Given the description of an element on the screen output the (x, y) to click on. 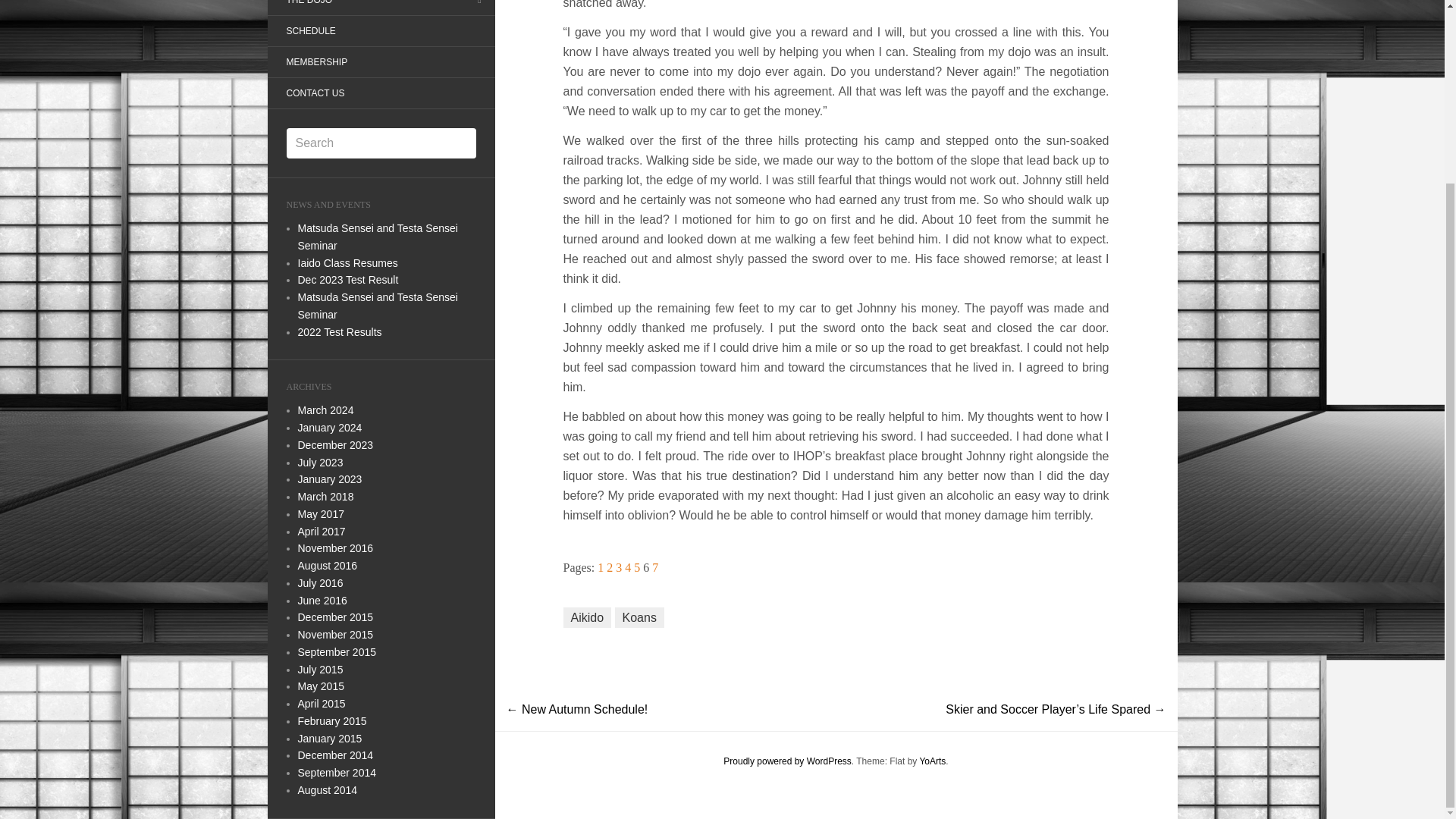
July 2015 (319, 668)
January 2024 (329, 427)
May 2017 (320, 513)
Iaido Class Resumes (347, 262)
Matsuda Sensei and Testa Sensei Seminar (377, 236)
March 2024 (325, 410)
SCHEDULE (309, 31)
June 2016 (321, 600)
Dec 2023 Test Result (347, 279)
September 2015 (336, 652)
November 2015 (334, 634)
December 2015 (334, 616)
Matsuda Sensei and Testa Sensei Seminar (377, 306)
Semantic Personal Publishing Platform (787, 760)
March 2018 (325, 496)
